Given the description of an element on the screen output the (x, y) to click on. 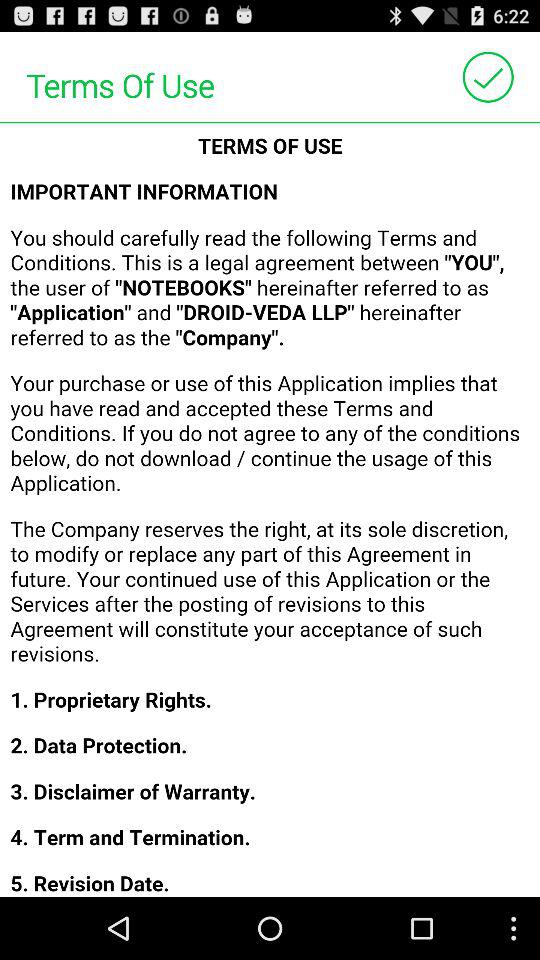
yes mark icon (487, 76)
